Given the description of an element on the screen output the (x, y) to click on. 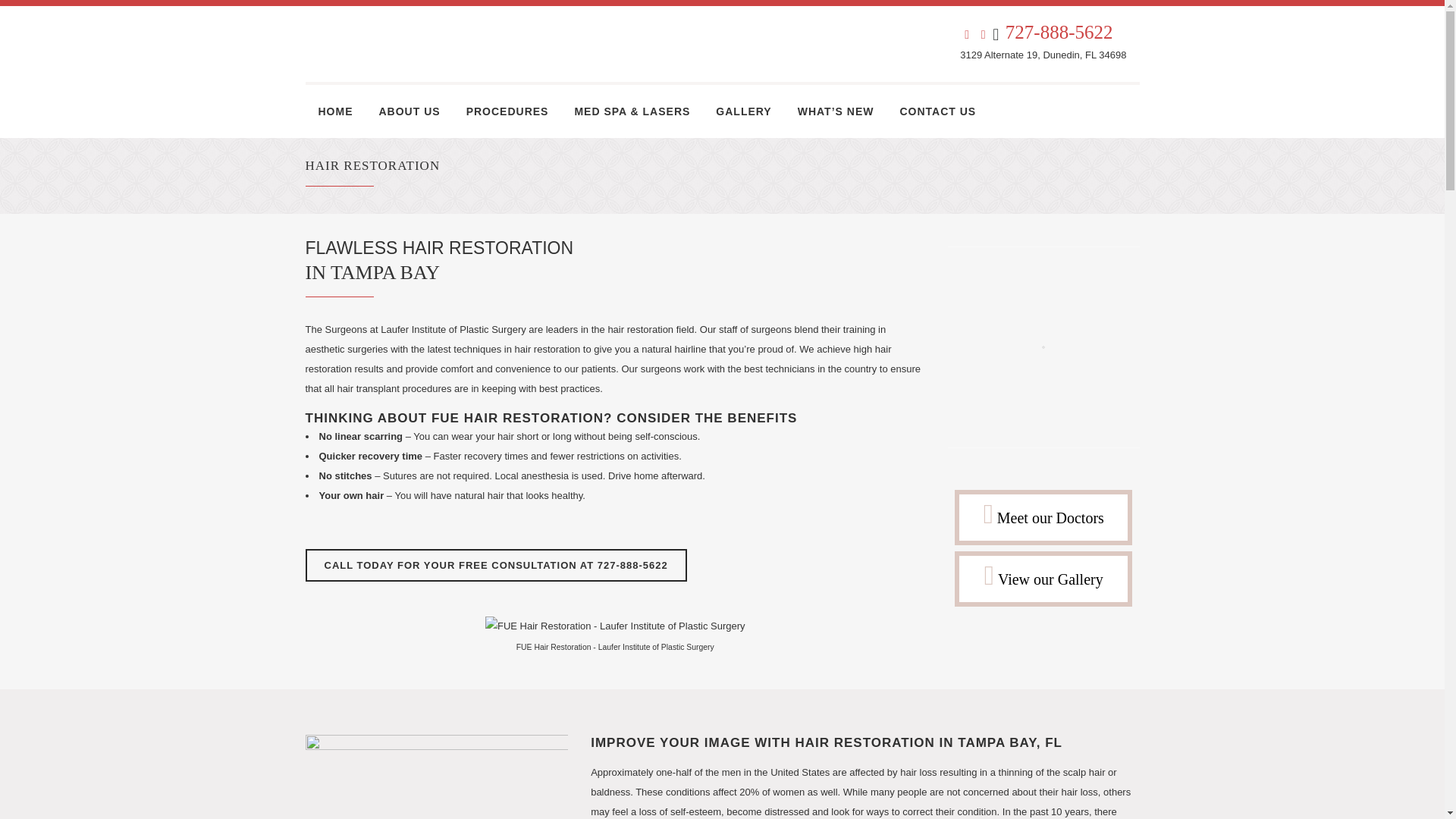
ABOUT US (408, 111)
PROCEDURES (507, 111)
HOME (334, 111)
